Given the description of an element on the screen output the (x, y) to click on. 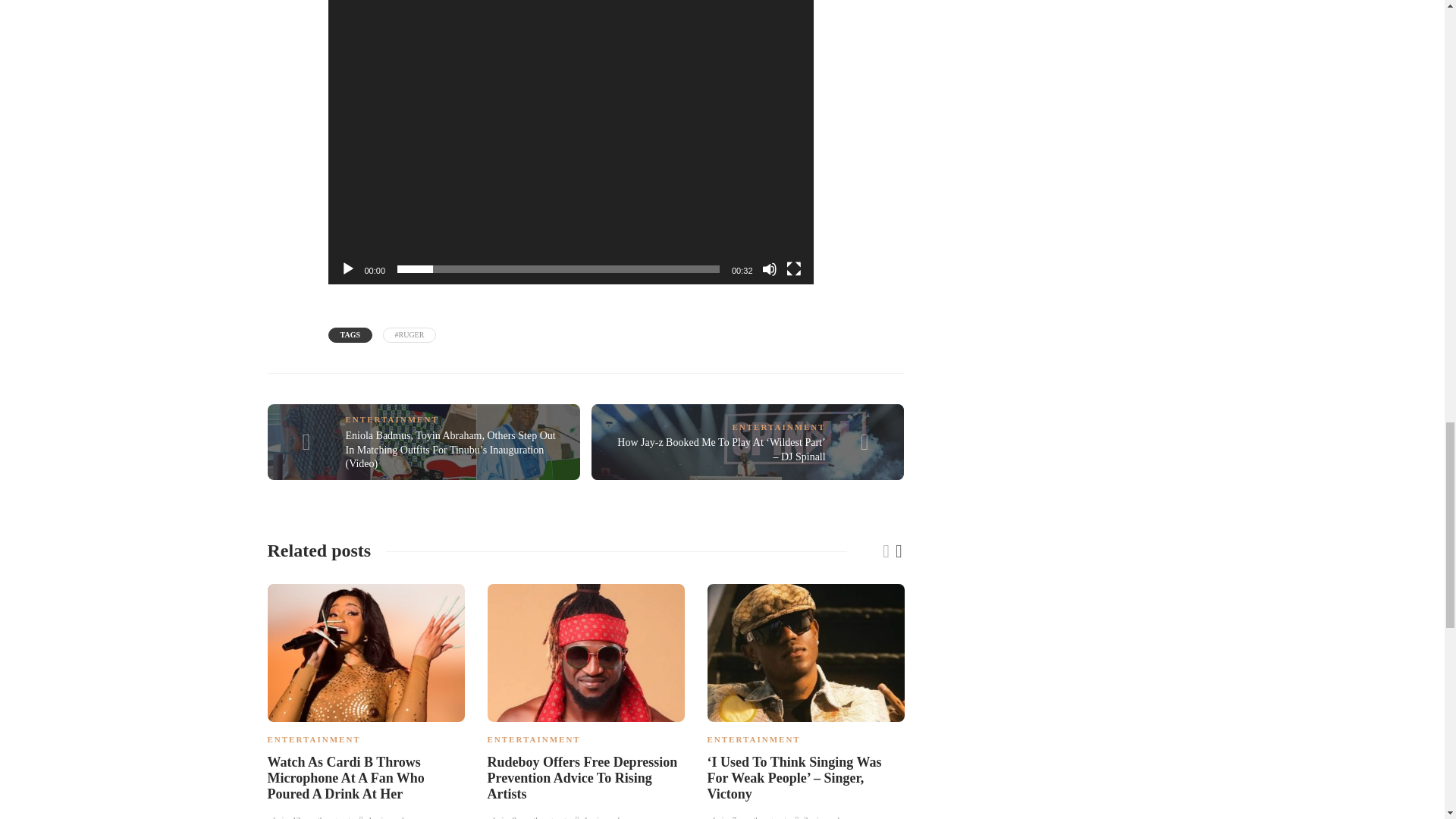
Fullscreen (793, 268)
TAGS (349, 335)
Mute (768, 268)
Play (347, 268)
ENTERTAINMENT (392, 419)
